Given the description of an element on the screen output the (x, y) to click on. 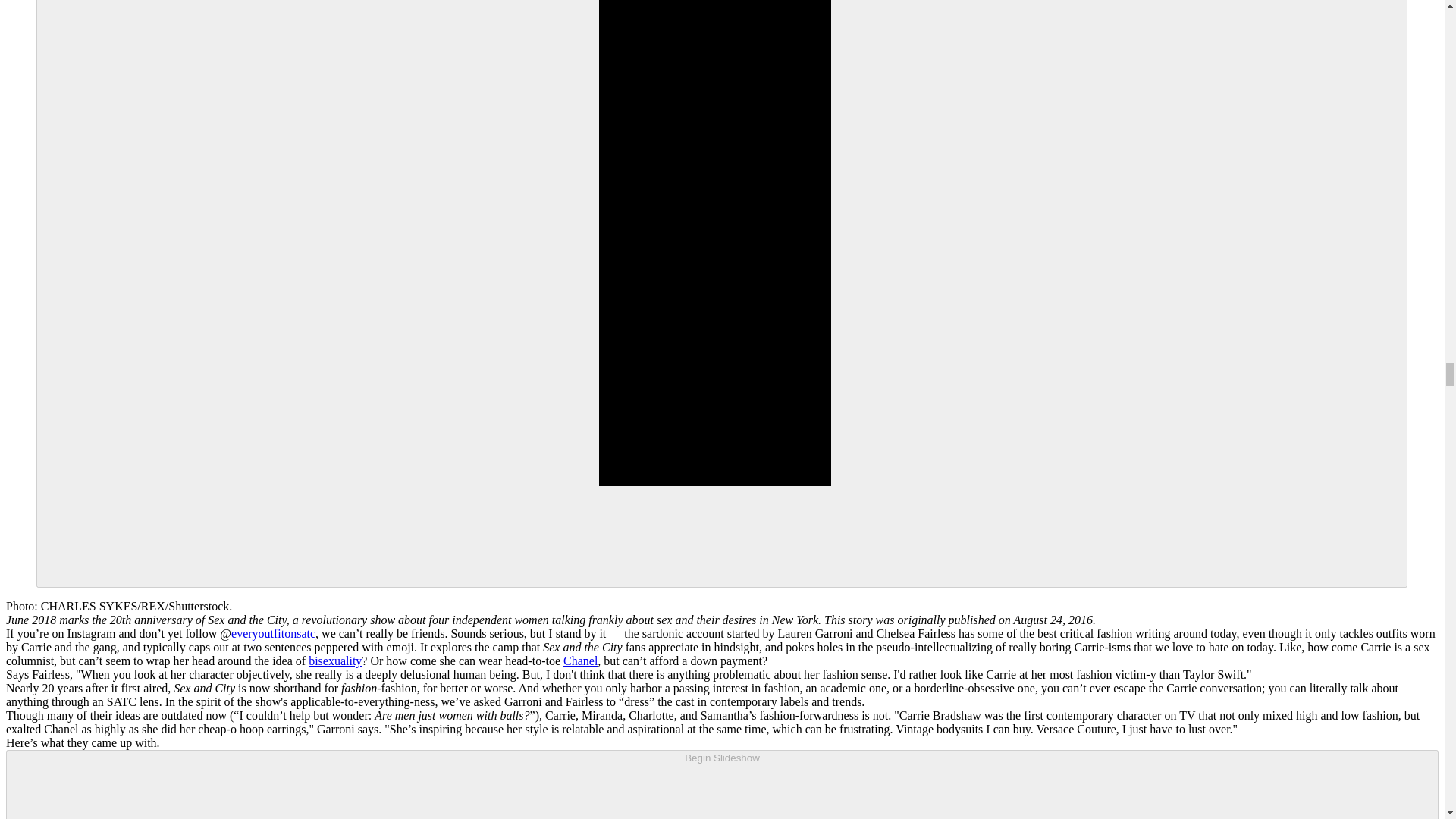
Chanel (579, 660)
bisexuality (334, 660)
everyoutfitonsatc (273, 633)
